Given the description of an element on the screen output the (x, y) to click on. 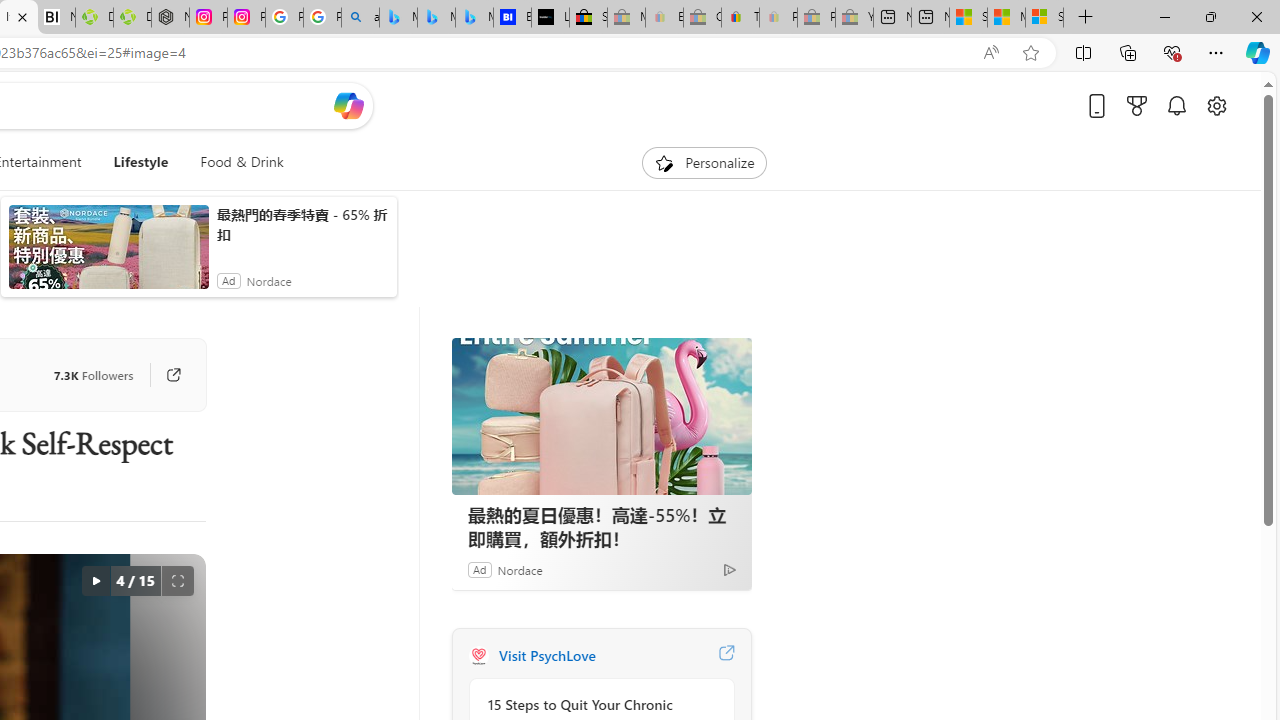
autorotate button (95, 580)
Go to publisher's site (163, 374)
Press Room - eBay Inc. - Sleeping (815, 17)
Nvidia va a poner a prueba la paciencia de los inversores (56, 17)
